Given the description of an element on the screen output the (x, y) to click on. 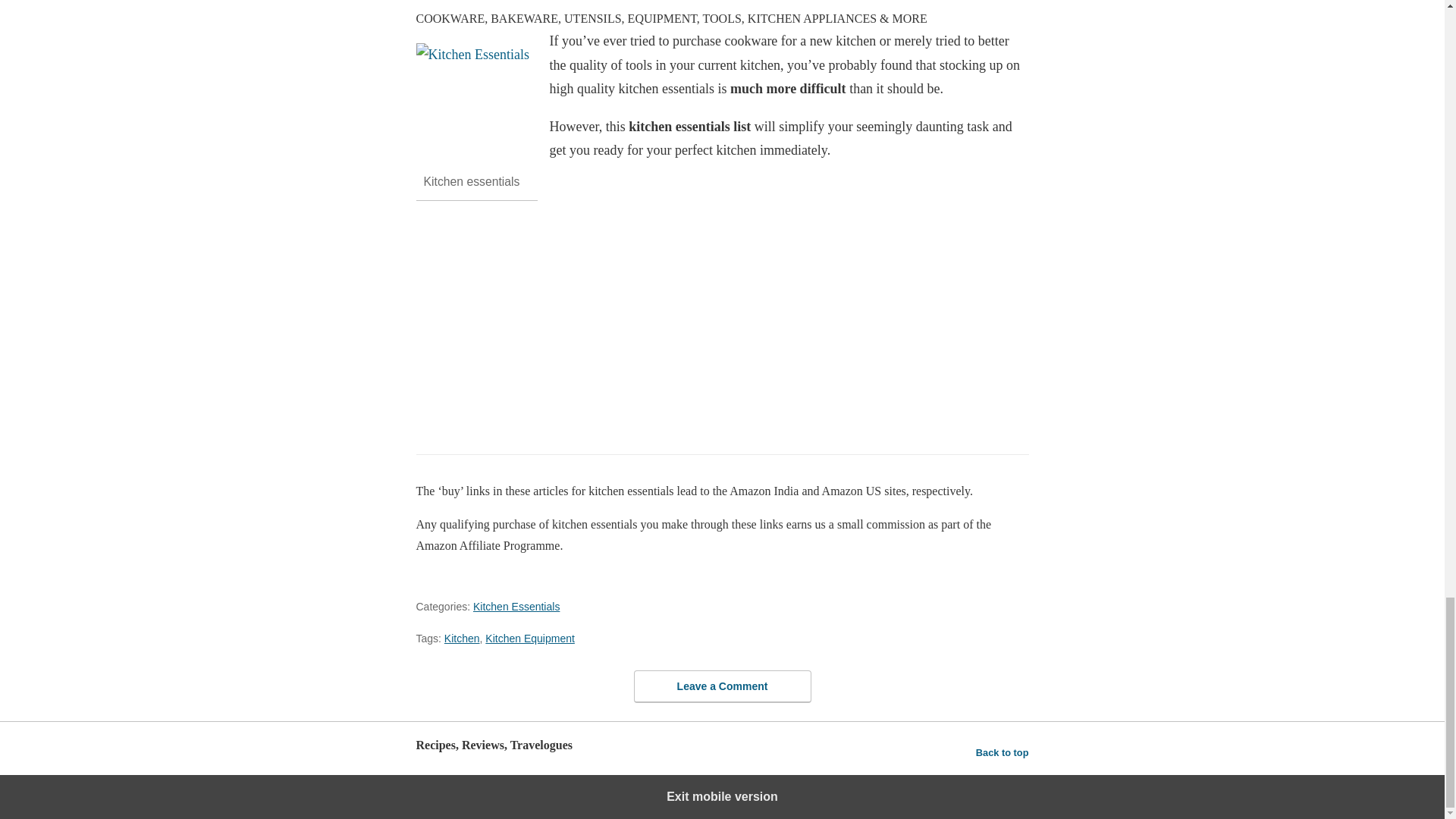
Kitchen (462, 638)
Back to top (1002, 752)
Leave a Comment (721, 686)
Pinterest (921, 360)
Kitchen Equipment (529, 638)
Facebook (840, 360)
Kitchen Essentials - For You, The Everyday Cook (471, 100)
Instagram (763, 360)
gosumitup.com (802, 394)
Kitchen Essentials (516, 606)
